Given the description of an element on the screen output the (x, y) to click on. 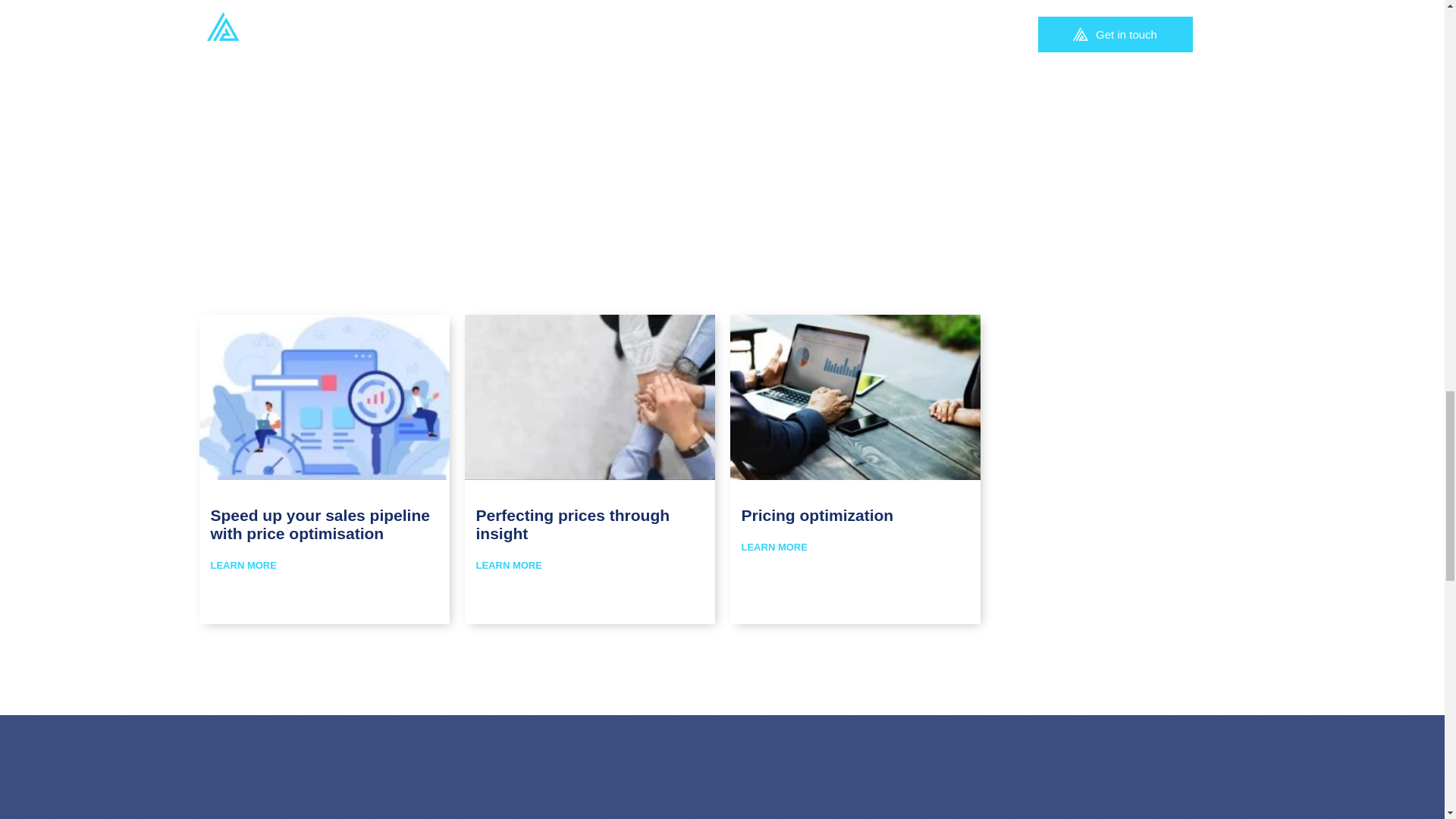
Speed up your sales pipeline with price optimisation (320, 524)
Pricing optimization (817, 515)
Optimisation 2 (321, 396)
Optimisation 4 (853, 396)
Perfecting prices through insight (572, 524)
Optimisation 3 (588, 396)
